Given the description of an element on the screen output the (x, y) to click on. 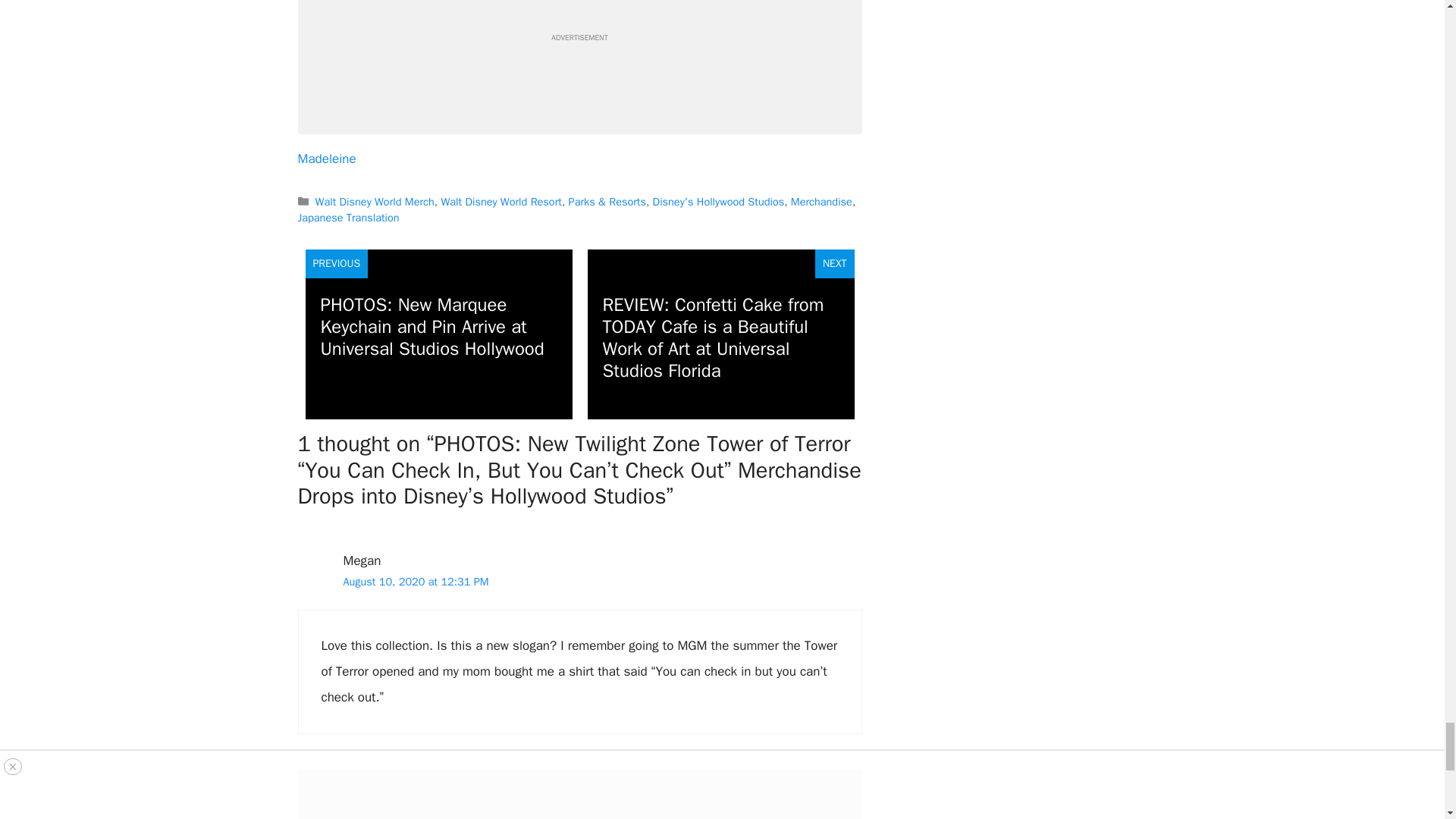
Walt Disney World Resort (500, 201)
Madeleine (326, 158)
Japanese Translation (347, 217)
Madeleine (326, 158)
Merchandise (820, 201)
Disney's Hollywood Studios (718, 201)
Walt Disney World Merch (374, 201)
